Given the description of an element on the screen output the (x, y) to click on. 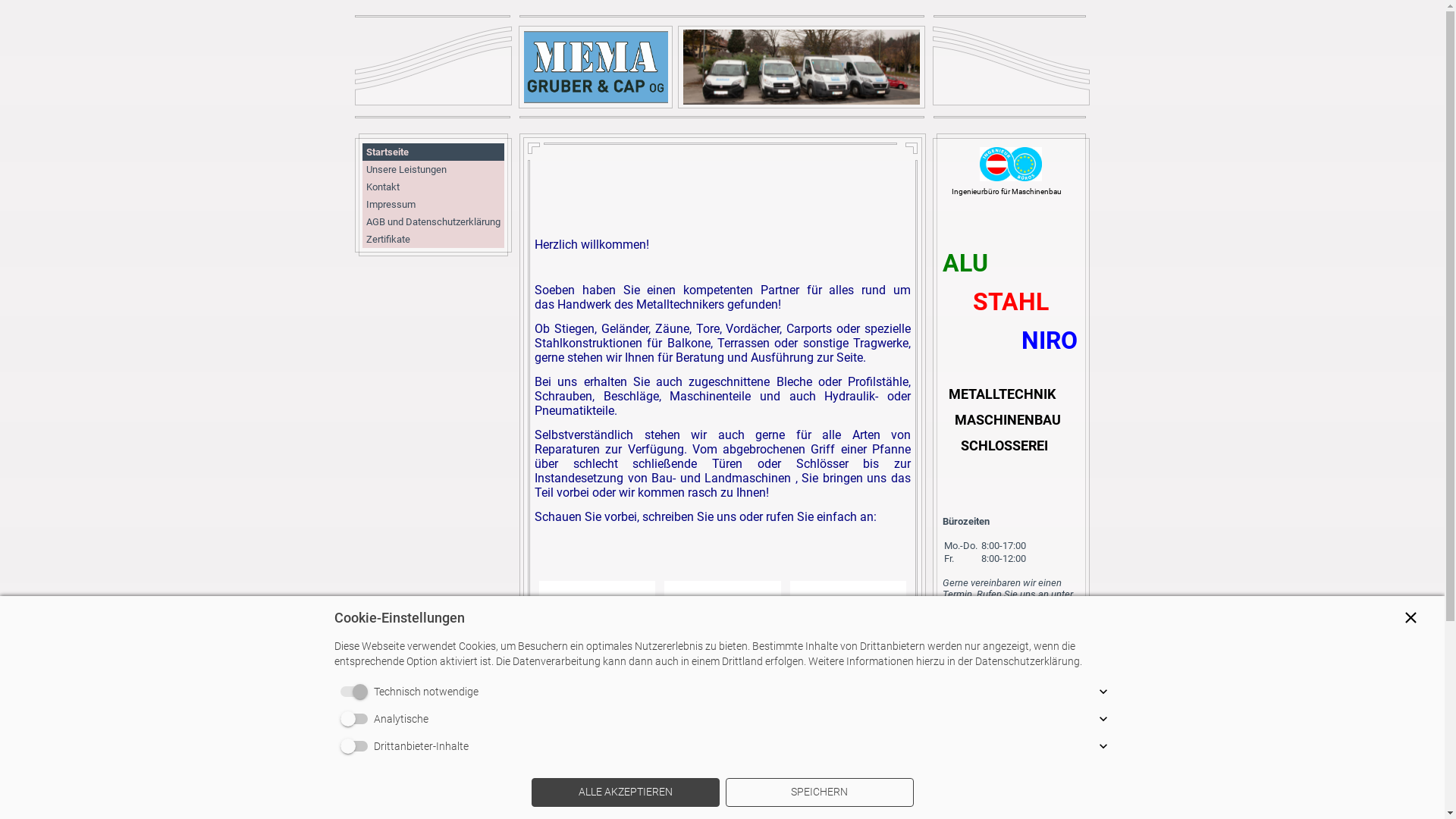
Unsere Leistungen Element type: text (433, 169)
ALLE AKZEPTIEREN Element type: text (624, 792)
Rauchfangkehrersteg Element type: text (596, 619)
Feuerschale Element type: text (847, 705)
vor Element type: text (855, 756)
SPEICHERN Element type: text (818, 792)
Impressum Element type: text (433, 204)
Zertifikate Element type: text (433, 238)
2 Element type: text (610, 756)
Startseite Element type: text (433, 151)
Kontakt Element type: text (433, 186)
Freitragende Wendelt... Element type: text (721, 619)
